Given the description of an element on the screen output the (x, y) to click on. 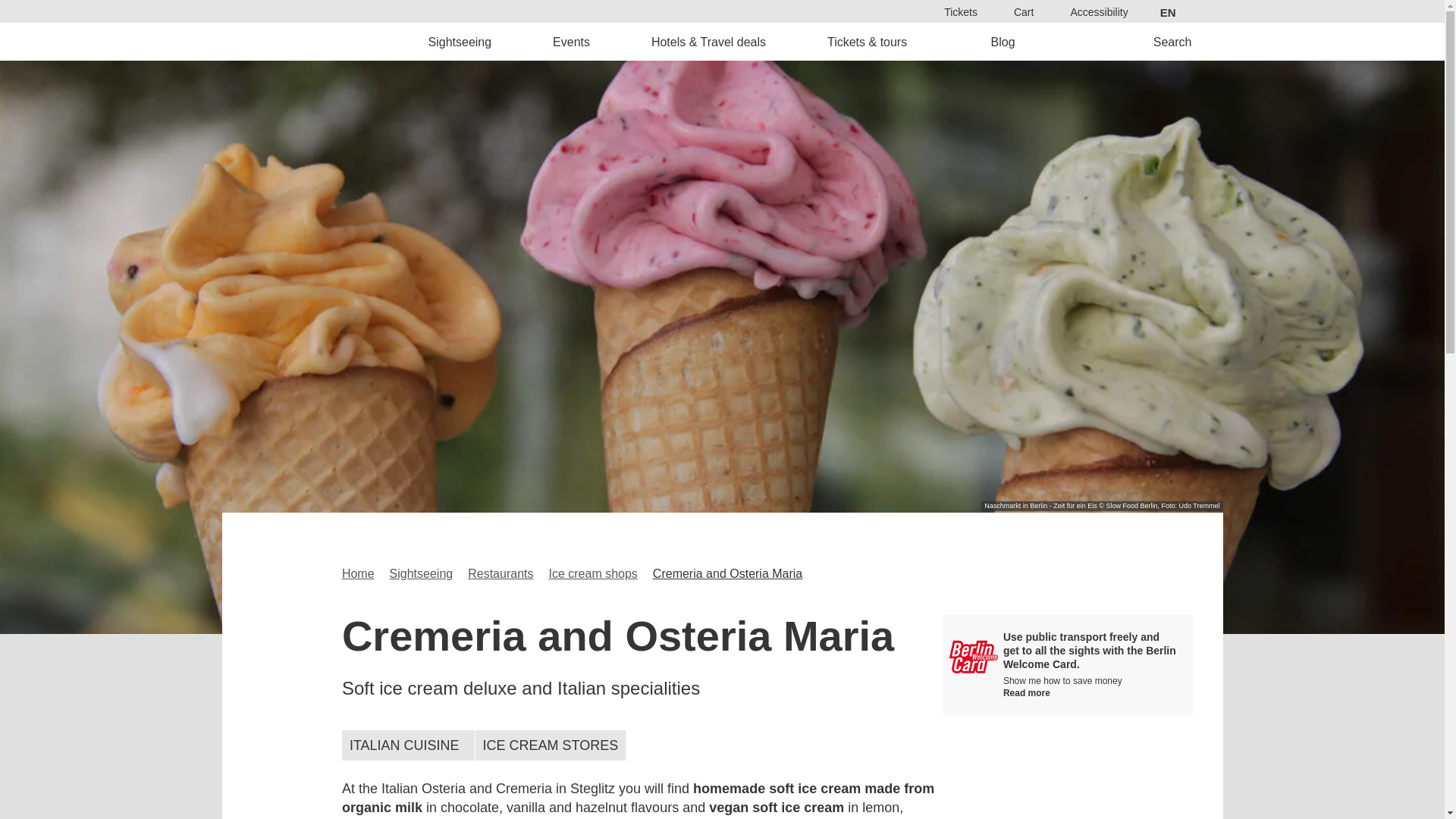
Sightseeing (460, 41)
Events (571, 41)
Find (768, 432)
Home (327, 41)
